Given the description of an element on the screen output the (x, y) to click on. 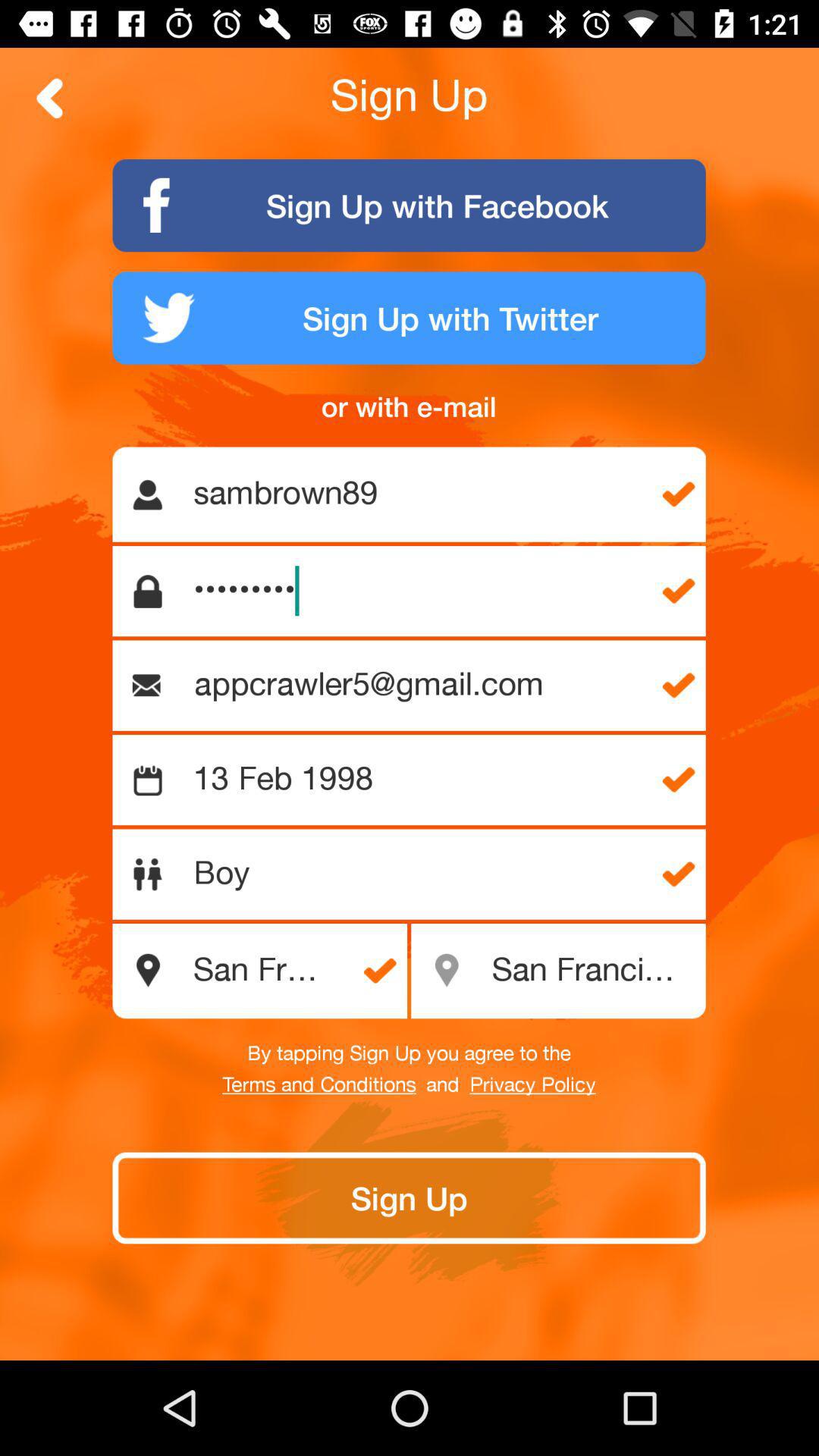
for ward (50, 98)
